Given the description of an element on the screen output the (x, y) to click on. 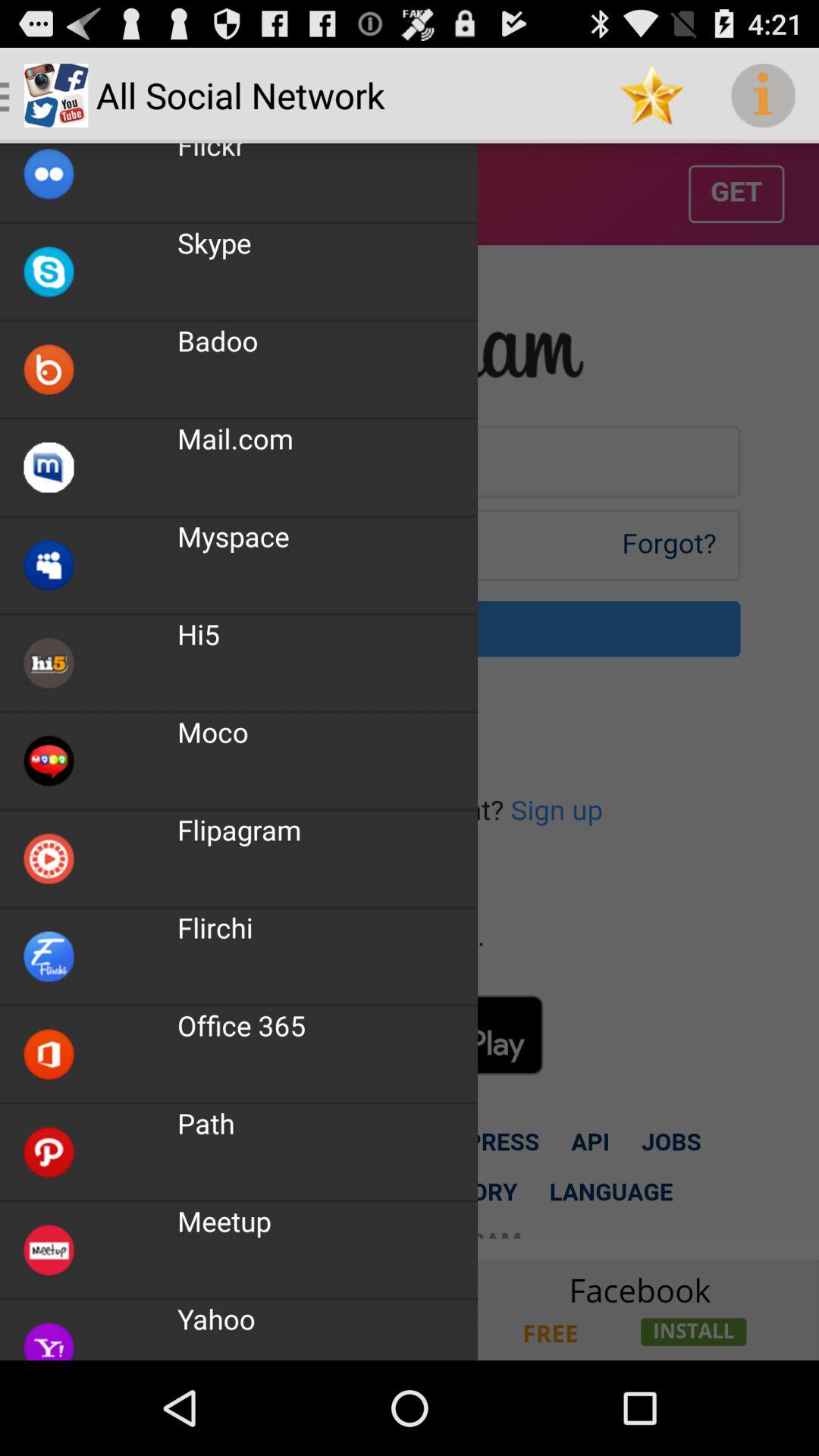
tap the icon below myspace app (198, 633)
